Given the description of an element on the screen output the (x, y) to click on. 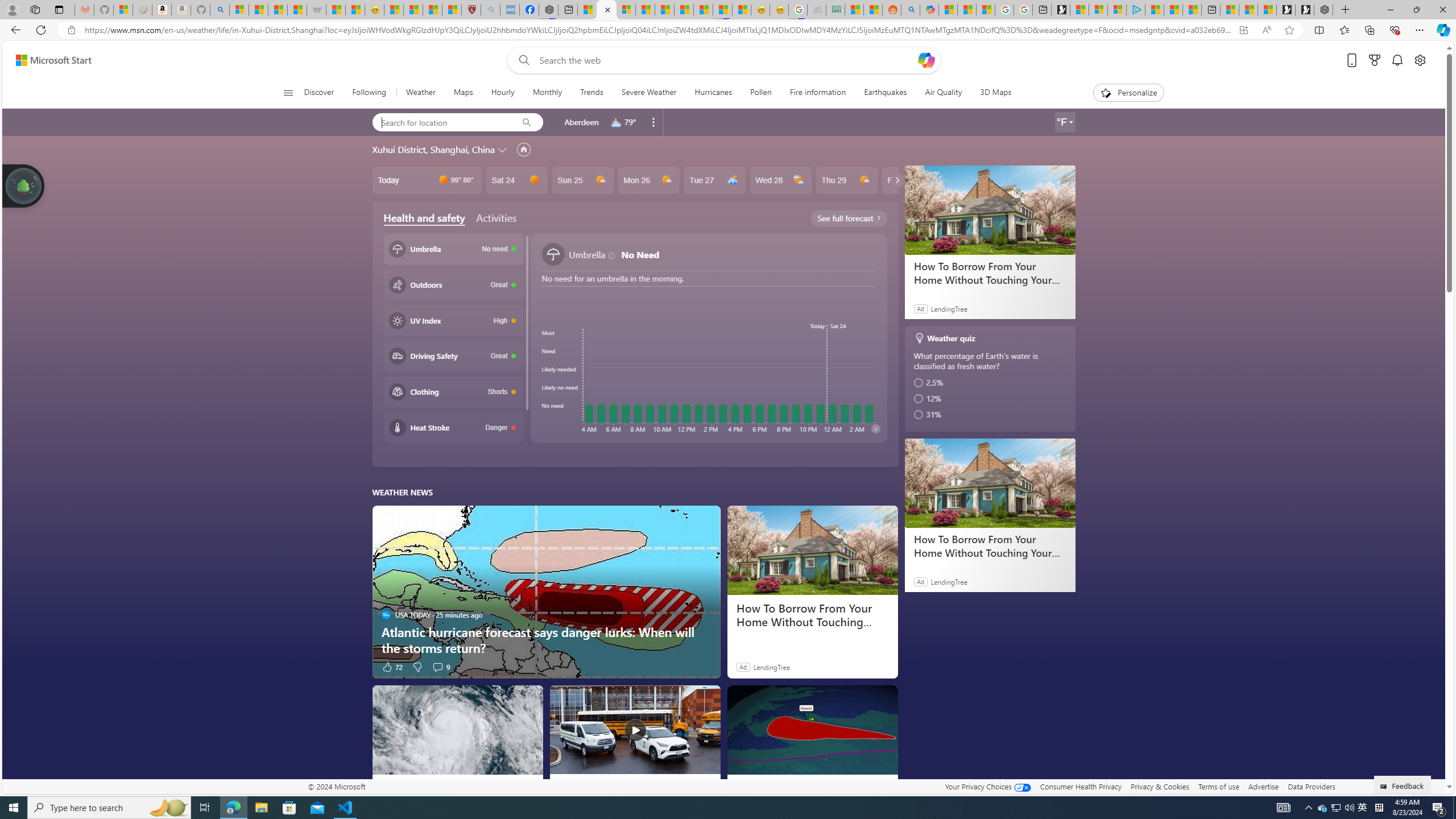
Pollen (760, 92)
App available. Install Microsoft Start Weather (1243, 29)
Outdoors Great (453, 284)
Tue 27 (714, 180)
Earthquakes (885, 92)
